Given the description of an element on the screen output the (x, y) to click on. 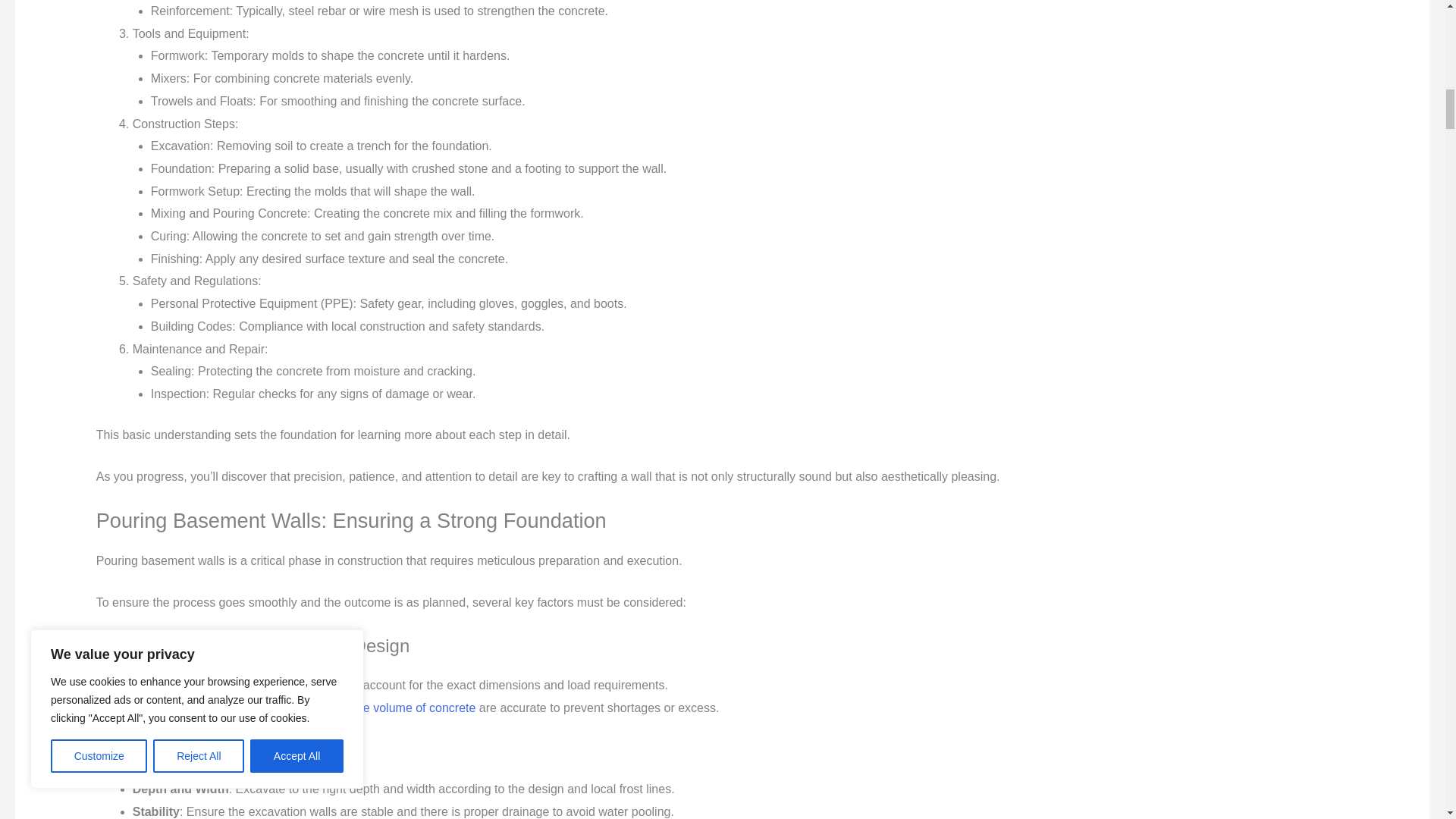
calculations for the volume of concrete (371, 707)
